Given the description of an element on the screen output the (x, y) to click on. 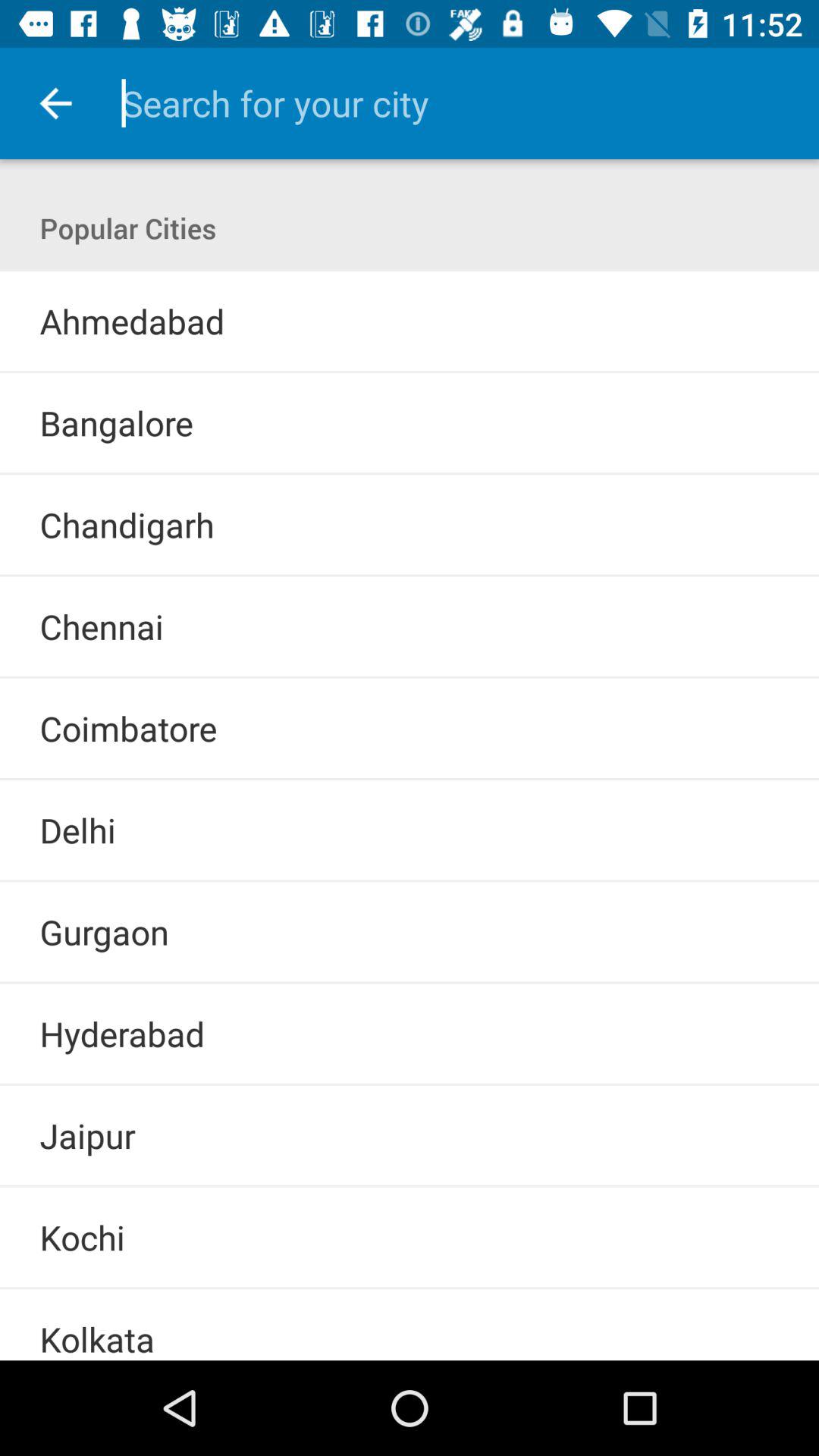
tap icon above jaipur icon (409, 1084)
